Given the description of an element on the screen output the (x, y) to click on. 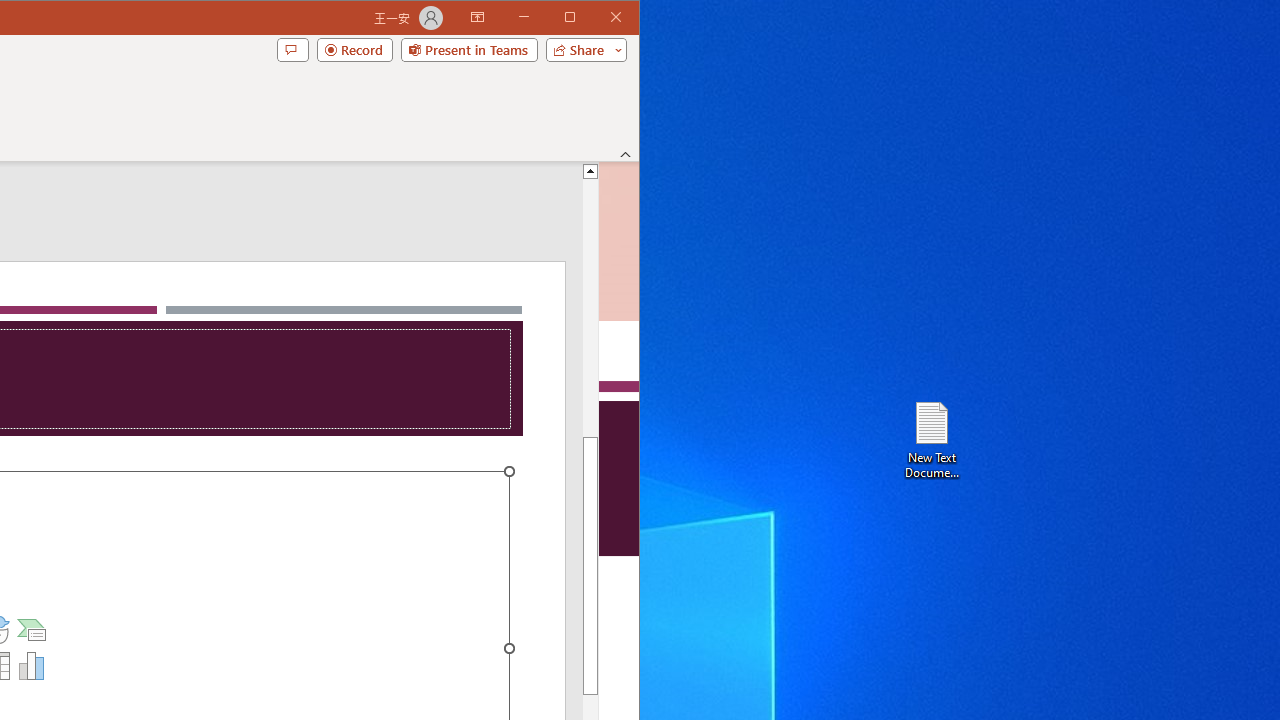
Insert Chart (31, 665)
Maximize (598, 18)
Insert a SmartArt Graphic (31, 629)
